Given the description of an element on the screen output the (x, y) to click on. 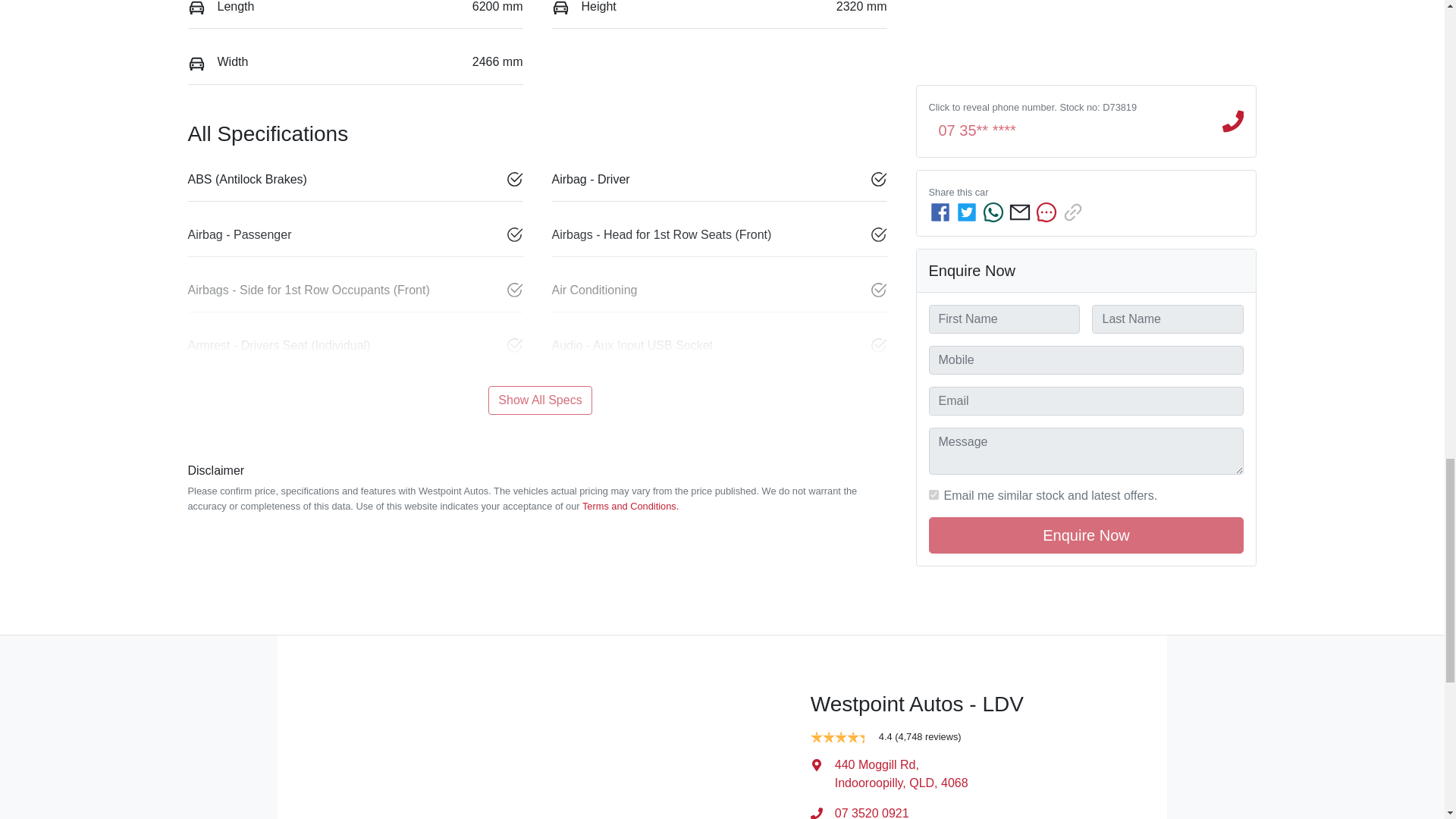
Show All Specs (539, 399)
